Given the description of an element on the screen output the (x, y) to click on. 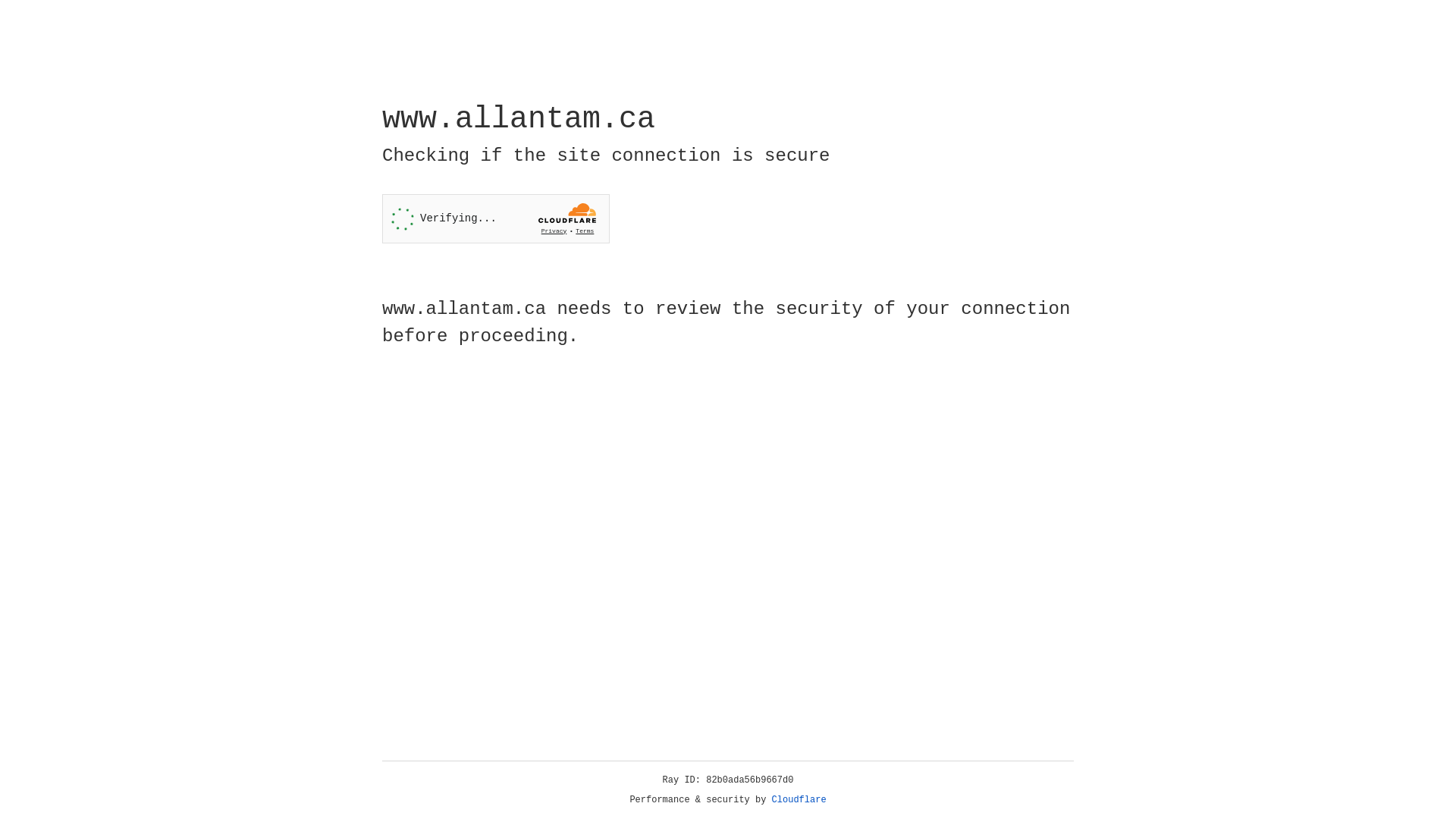
Widget containing a Cloudflare security challenge Element type: hover (495, 218)
Cloudflare Element type: text (798, 799)
